Given the description of an element on the screen output the (x, y) to click on. 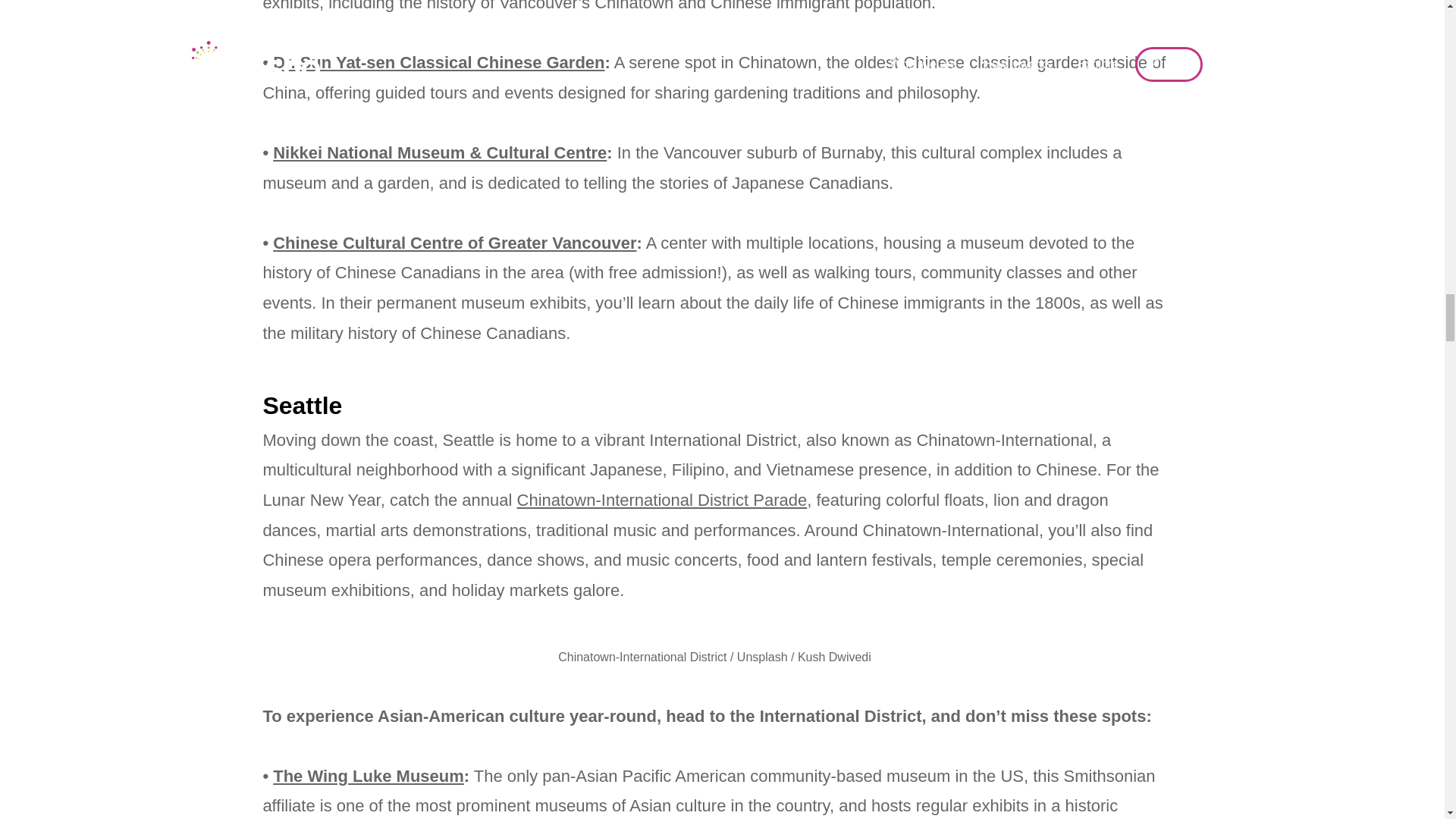
Chinatown-International District Parade (662, 499)
The Wing Luke Museum (368, 775)
Chinese Cultural Centre of Greater Vancouver (454, 242)
Dr. Sun Yat-sen Classical Chinese Garden (438, 62)
